Given the description of an element on the screen output the (x, y) to click on. 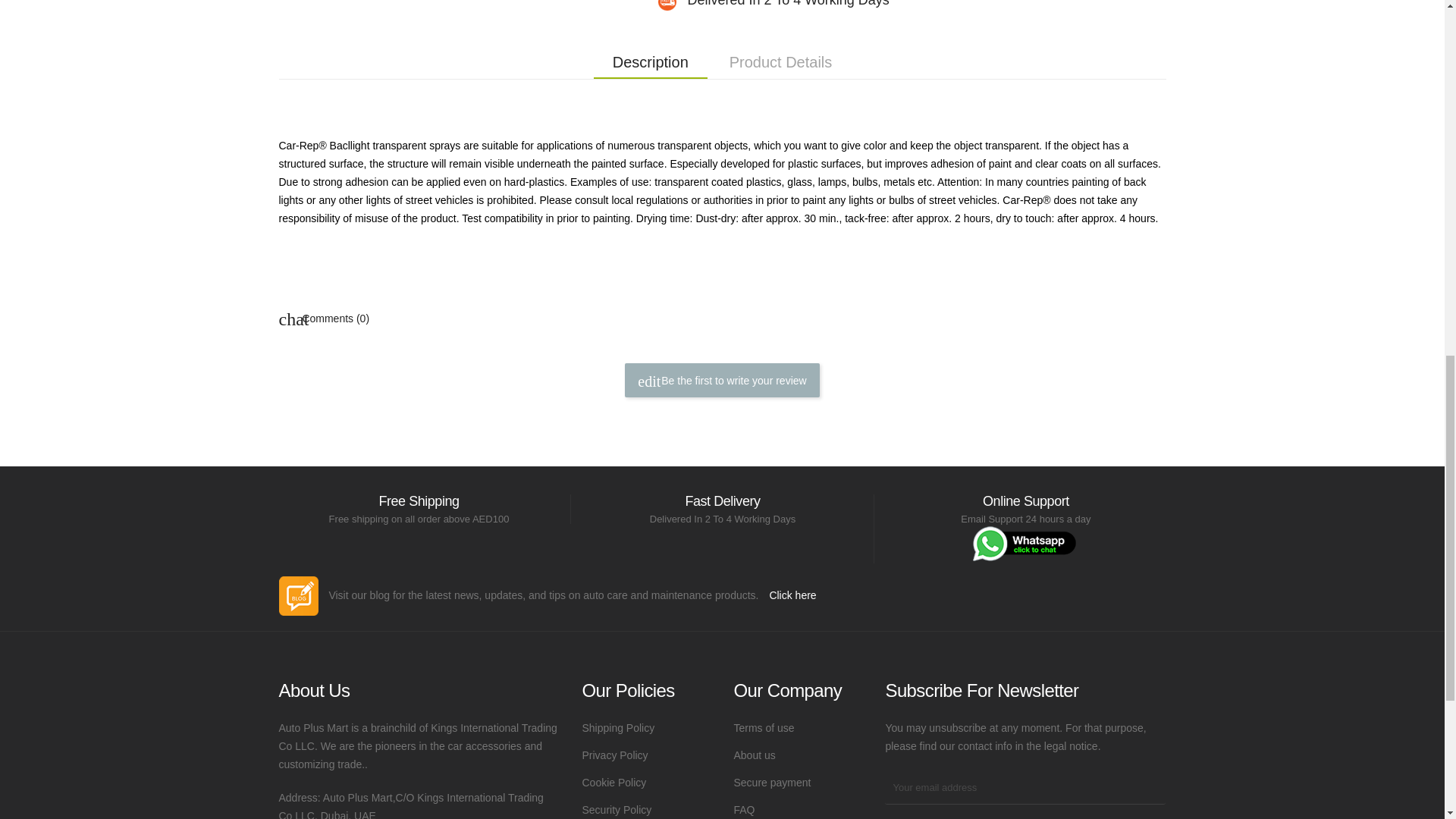
Our terms and conditions of delivery (645, 728)
